Given the description of an element on the screen output the (x, y) to click on. 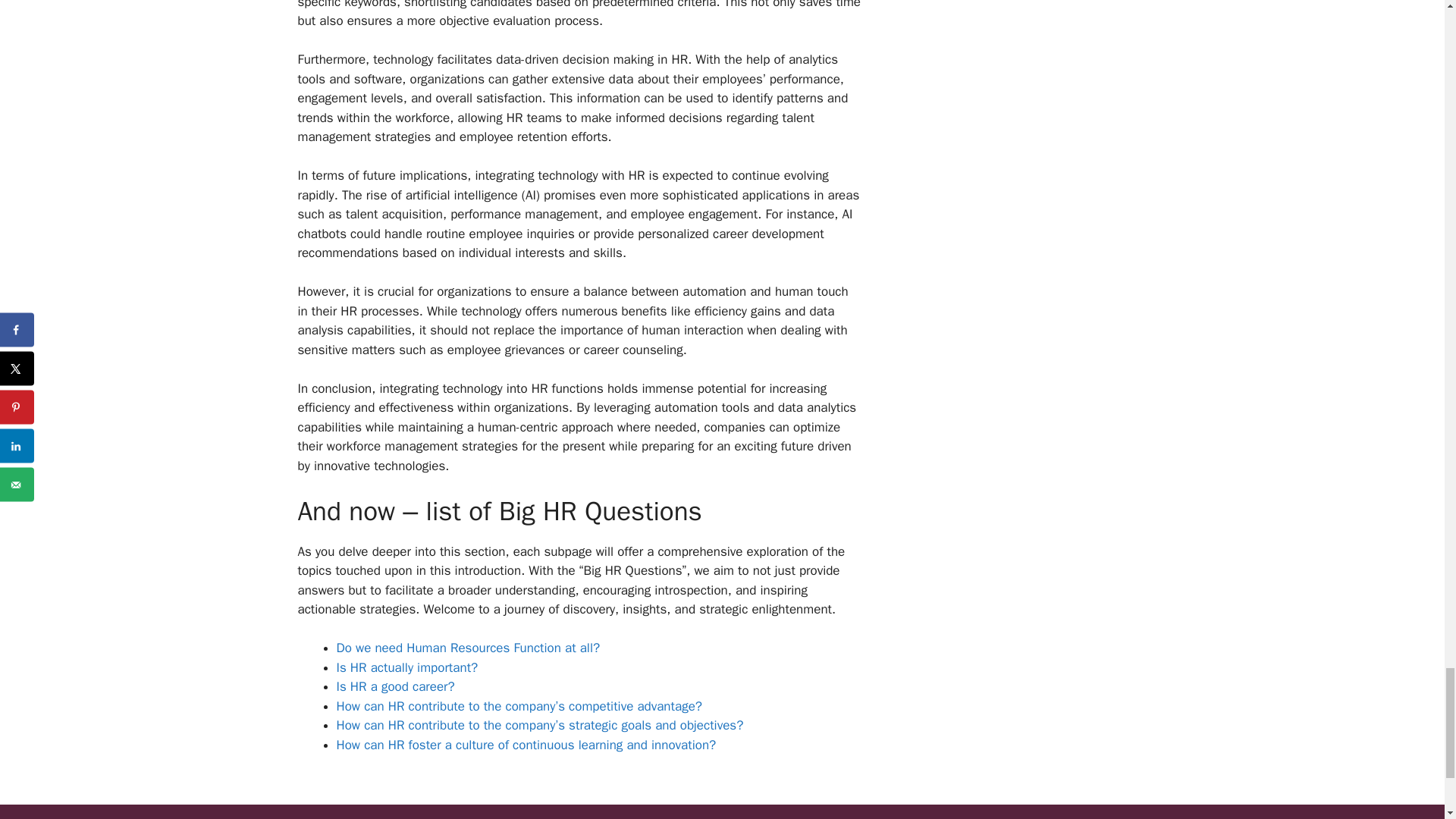
Is HR a good career? (395, 686)
Do we need Human Resources Function at all? (467, 647)
Is HR actually important? (407, 667)
